Given the description of an element on the screen output the (x, y) to click on. 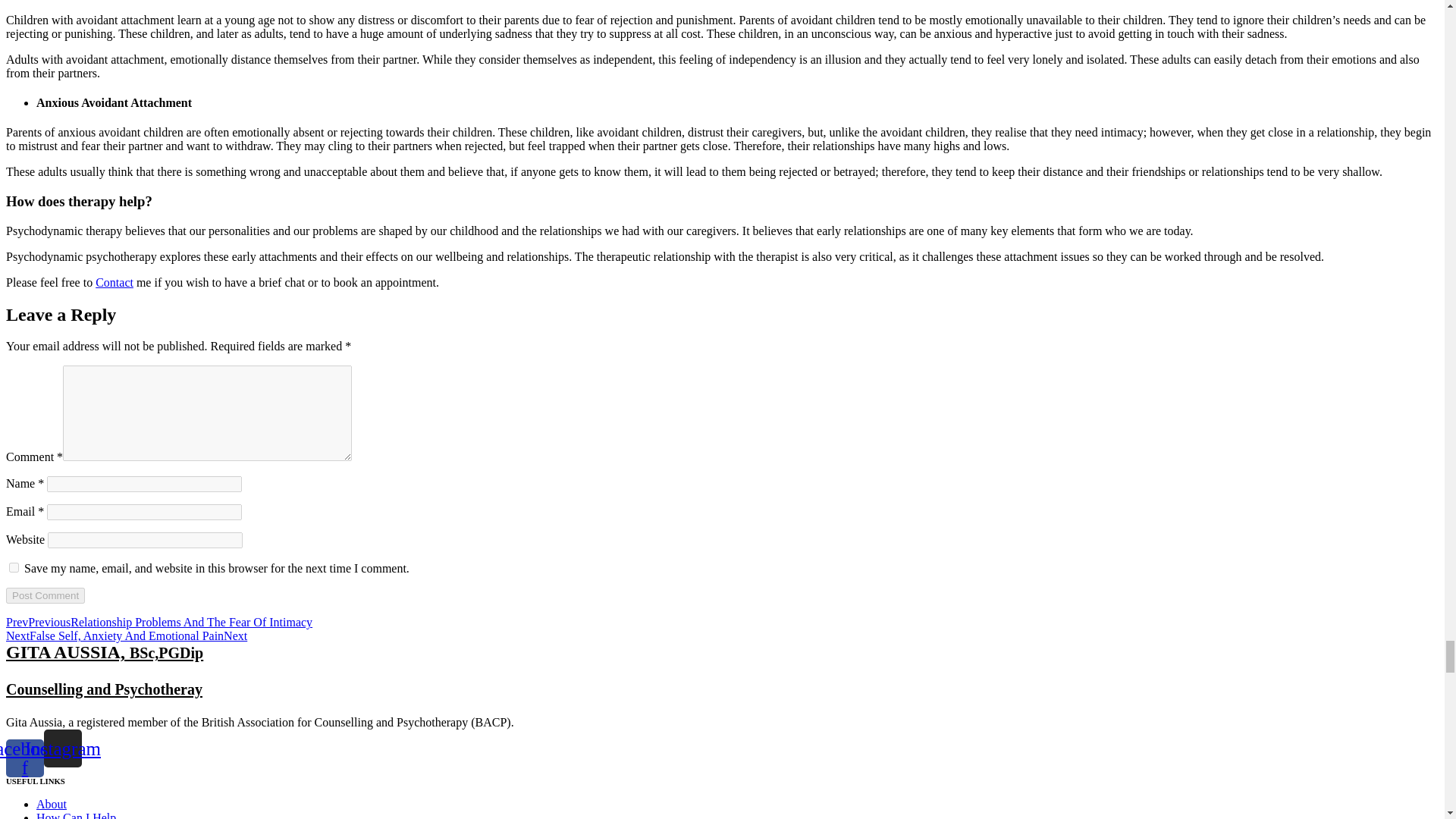
yes (13, 567)
Contact (114, 282)
Post Comment (44, 595)
How Can I Help (76, 815)
Post Comment (44, 595)
About (51, 803)
Instagram (62, 748)
Facebook-f (24, 758)
PrevPreviousRelationship Problems And The Fear Of Intimacy (159, 621)
NextFalse Self, Anxiety And Emotional PainNext (126, 635)
